Given the description of an element on the screen output the (x, y) to click on. 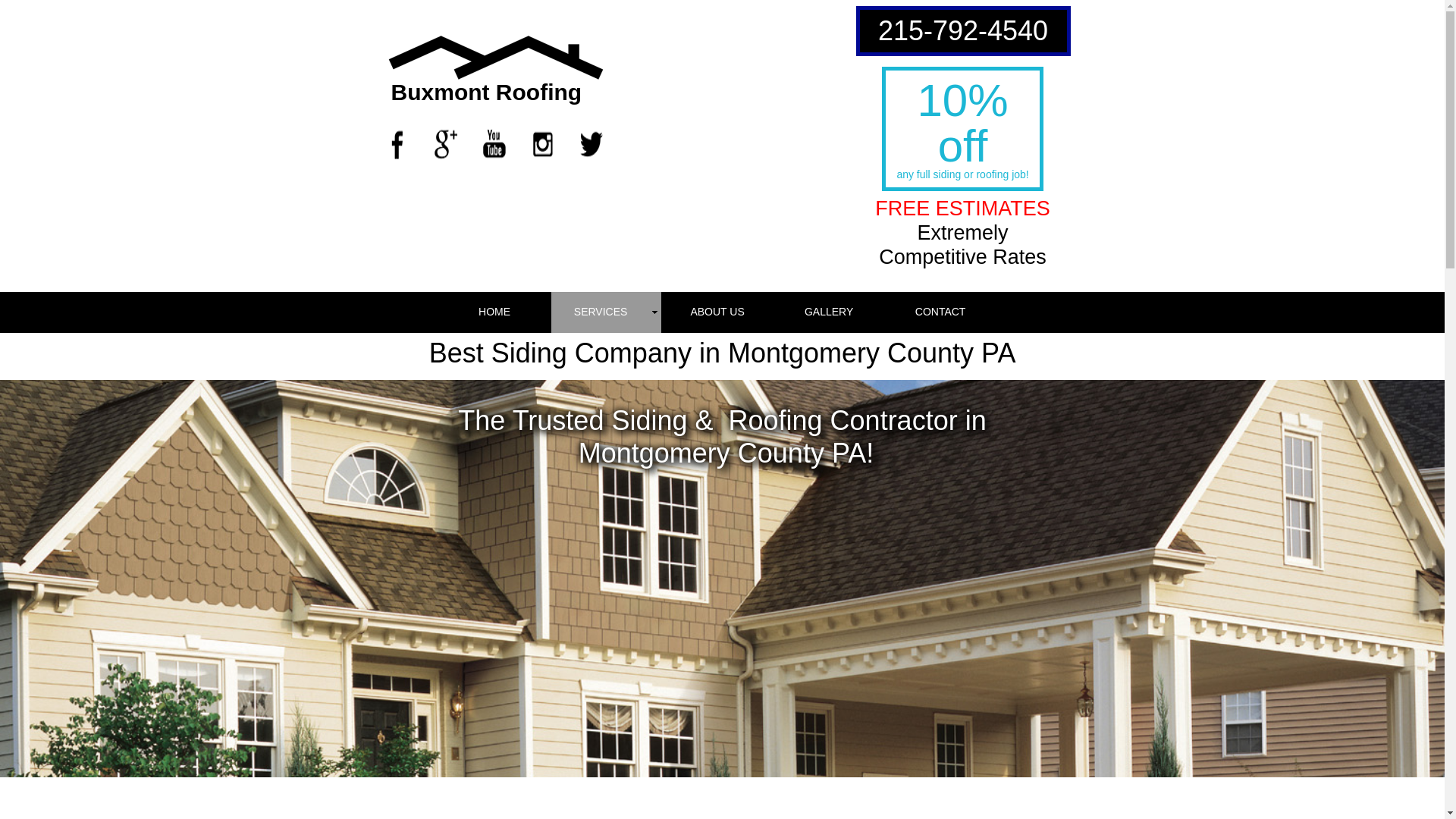
SERVICES (606, 311)
HOME (494, 311)
